Given the description of an element on the screen output the (x, y) to click on. 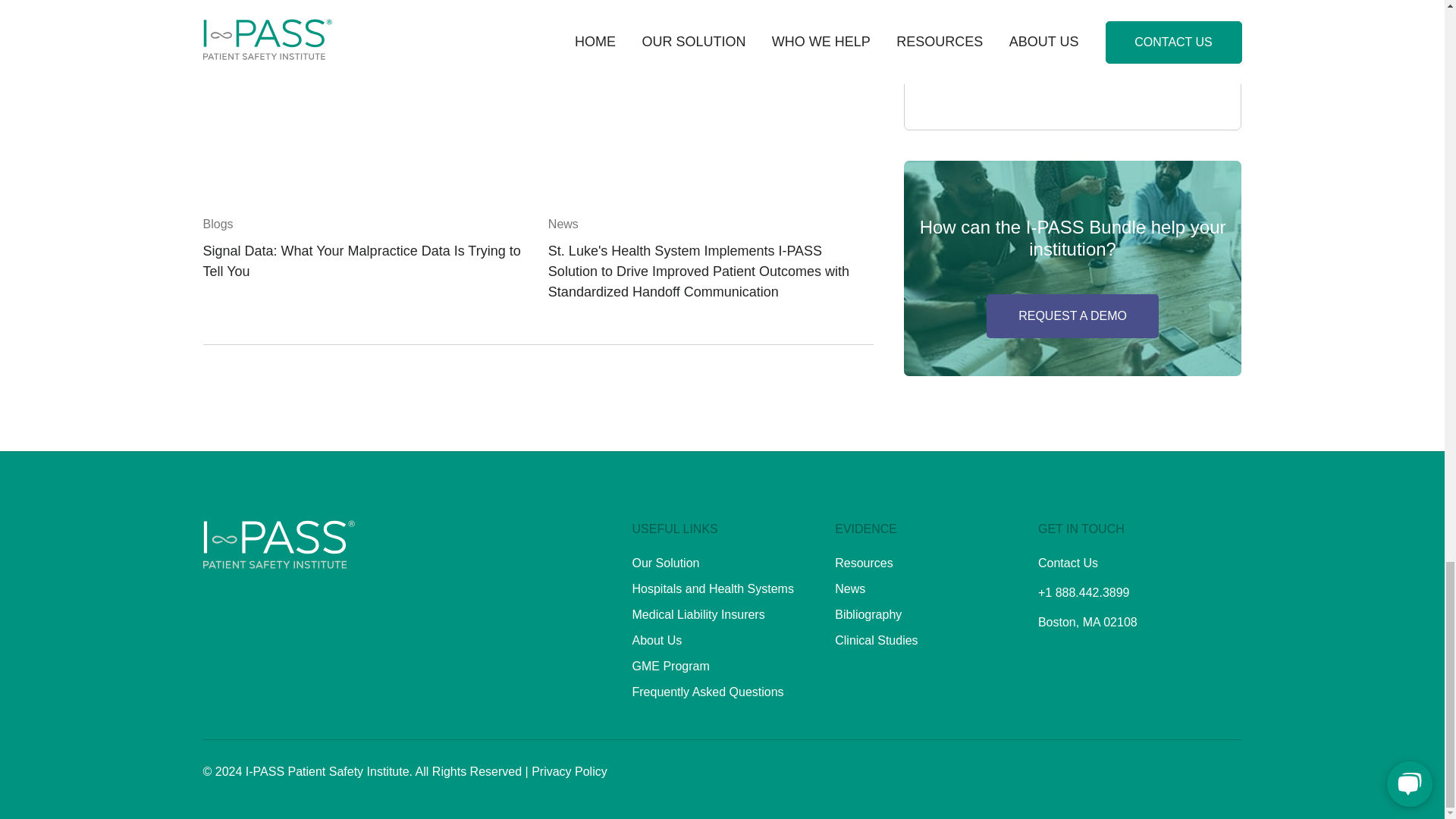
Privacy Policy (569, 771)
Contact Us (1067, 562)
News (849, 588)
Medical Liability Insurers (698, 614)
About Us (656, 640)
Resources (863, 562)
Clinical Studies (875, 640)
Bibliography (867, 614)
Hospitals and Health Systems (712, 588)
Frequently Asked Questions (707, 691)
Our Solution (665, 562)
GME Program (670, 666)
